Given the description of an element on the screen output the (x, y) to click on. 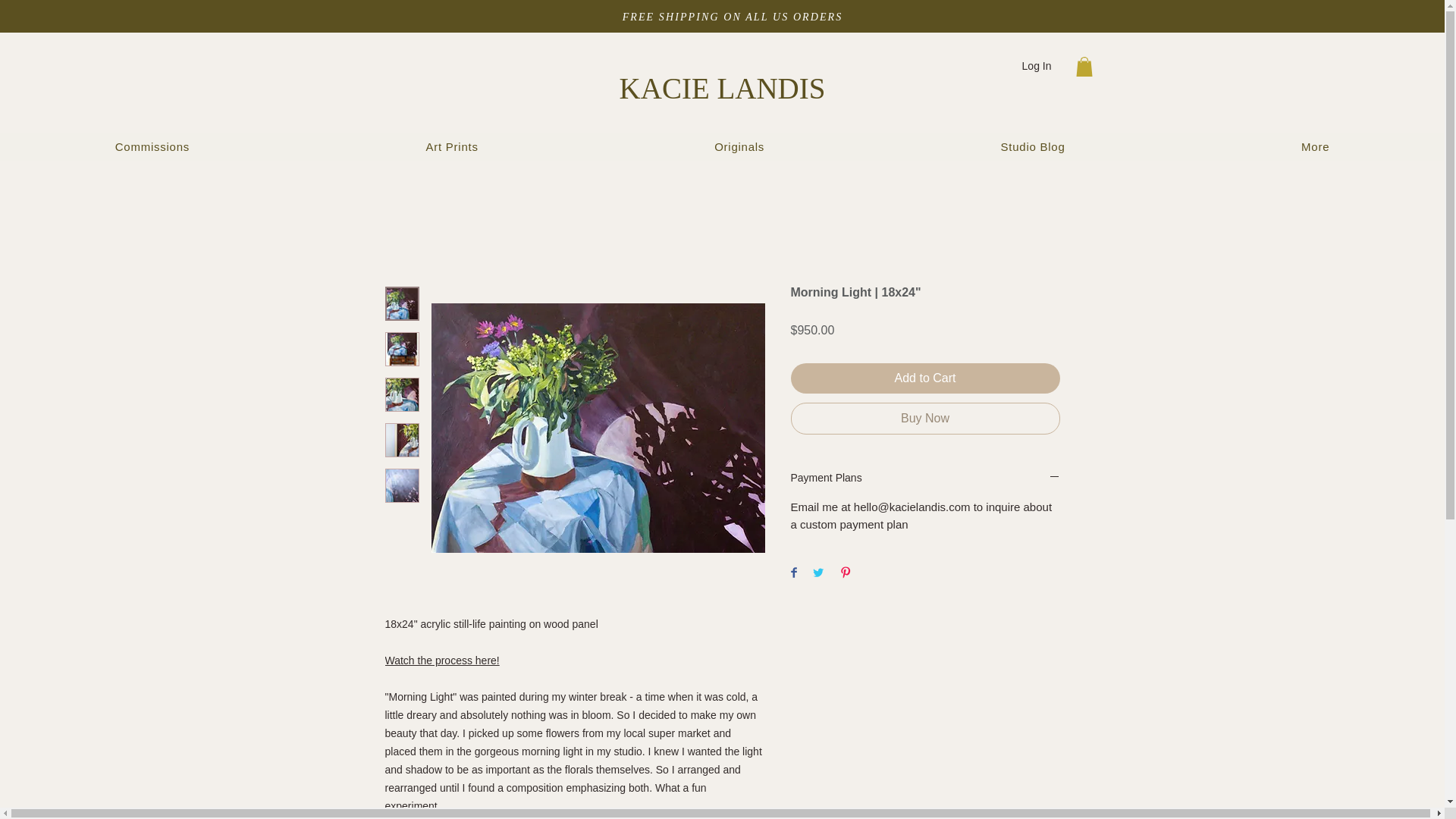
Payment Plans (924, 478)
Art Prints (452, 146)
Originals (738, 146)
KACIE LANDIS (722, 88)
Buy Now (924, 418)
Add to Cart (924, 378)
Watch the process here! (442, 660)
Log In (1036, 66)
Studio Blog (1032, 146)
